Given the description of an element on the screen output the (x, y) to click on. 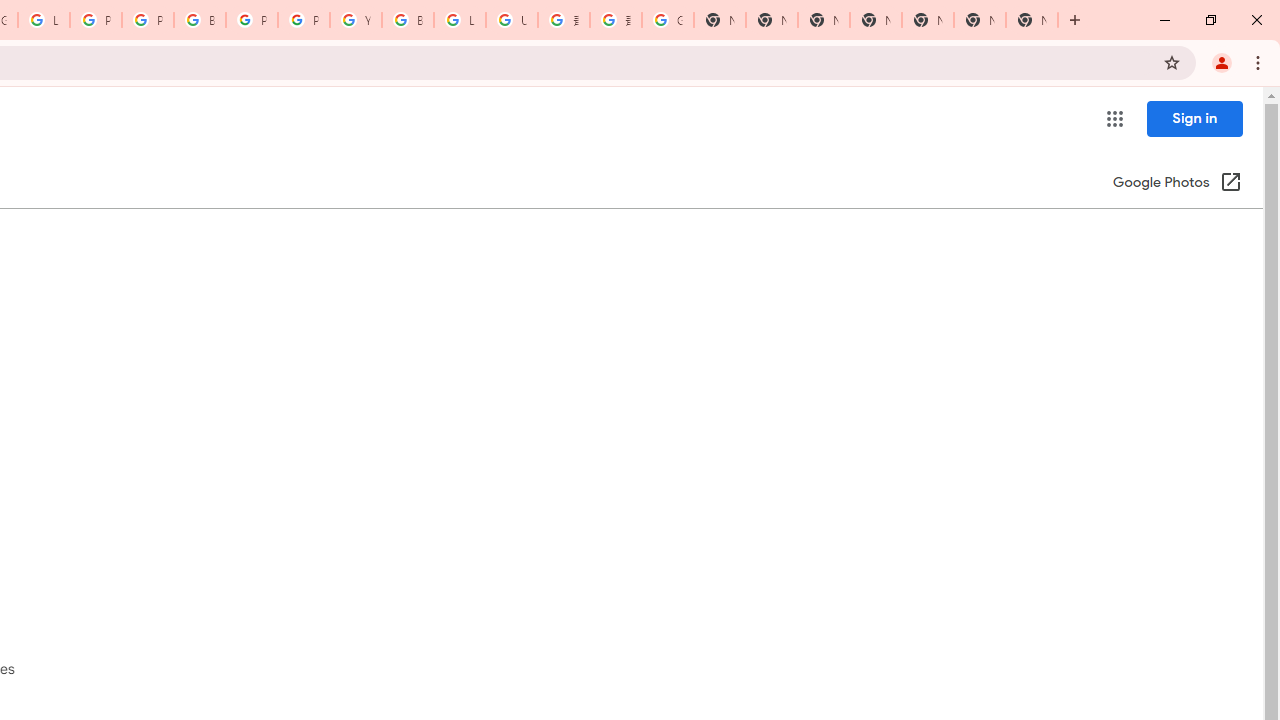
YouTube (355, 20)
New Tab (1032, 20)
